Given the description of an element on the screen output the (x, y) to click on. 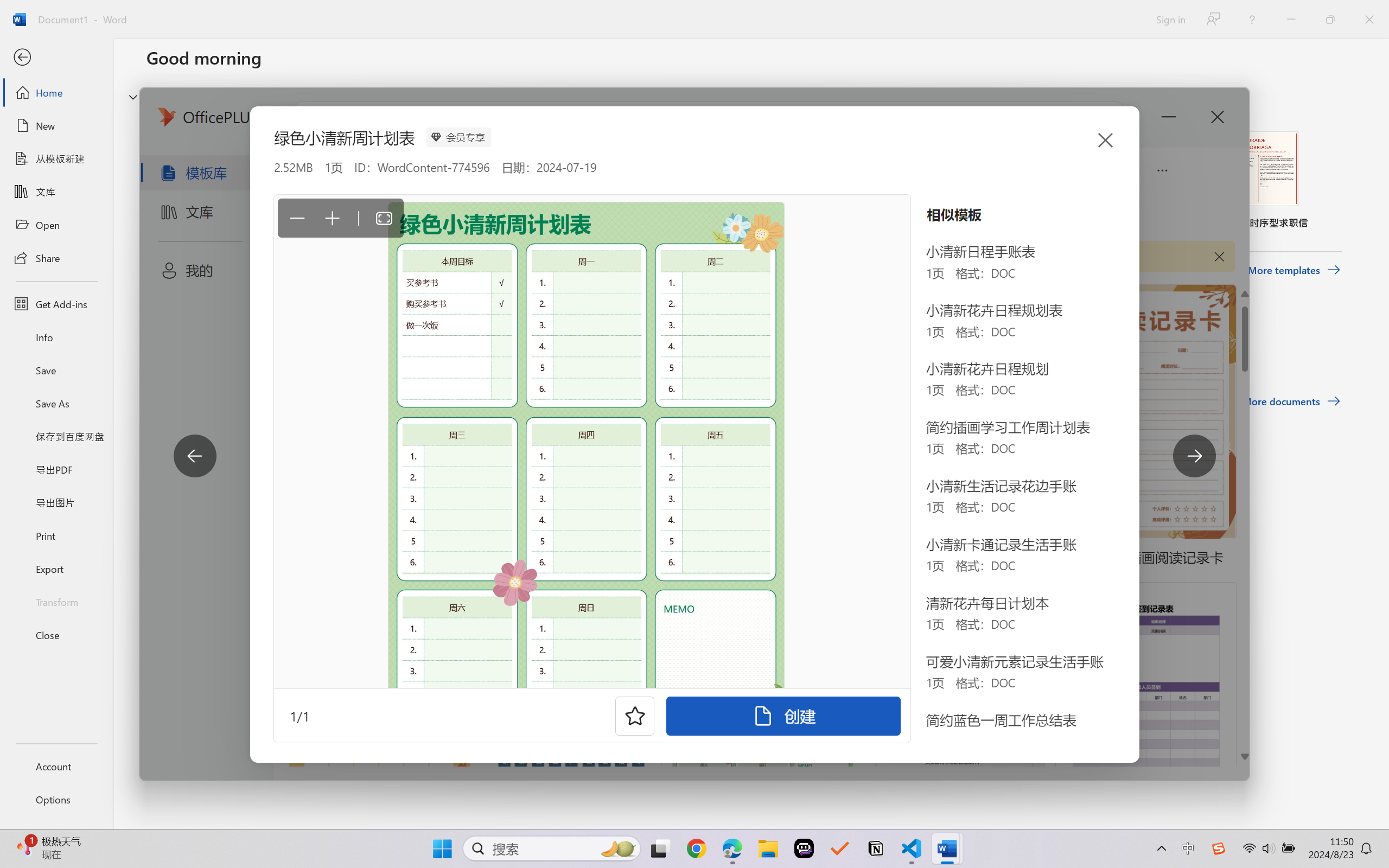
Back (56, 57)
Info (56, 337)
Transform (56, 601)
Export (56, 568)
Print (56, 535)
